Given the description of an element on the screen output the (x, y) to click on. 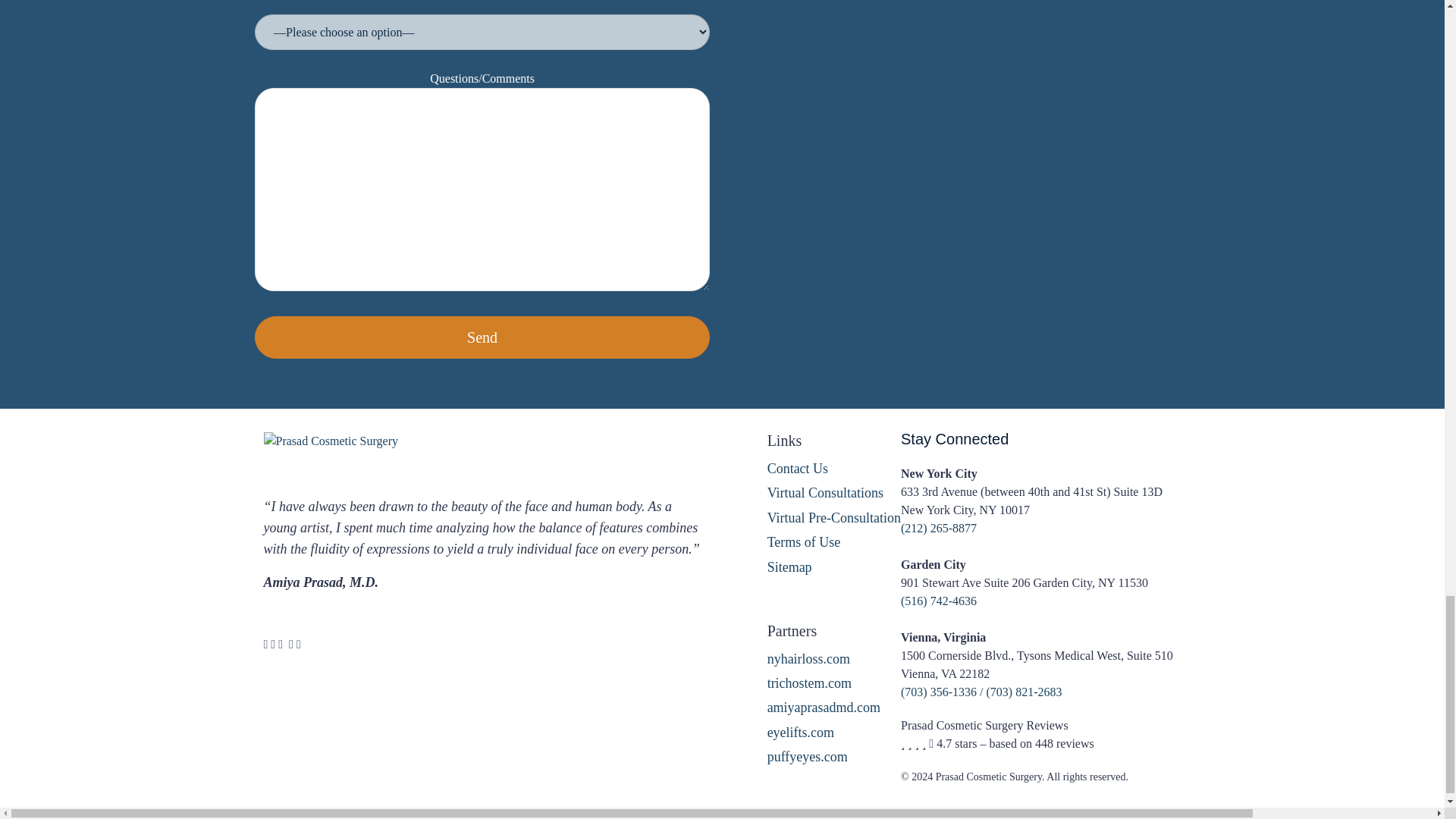
Send (482, 337)
